Given the description of an element on the screen output the (x, y) to click on. 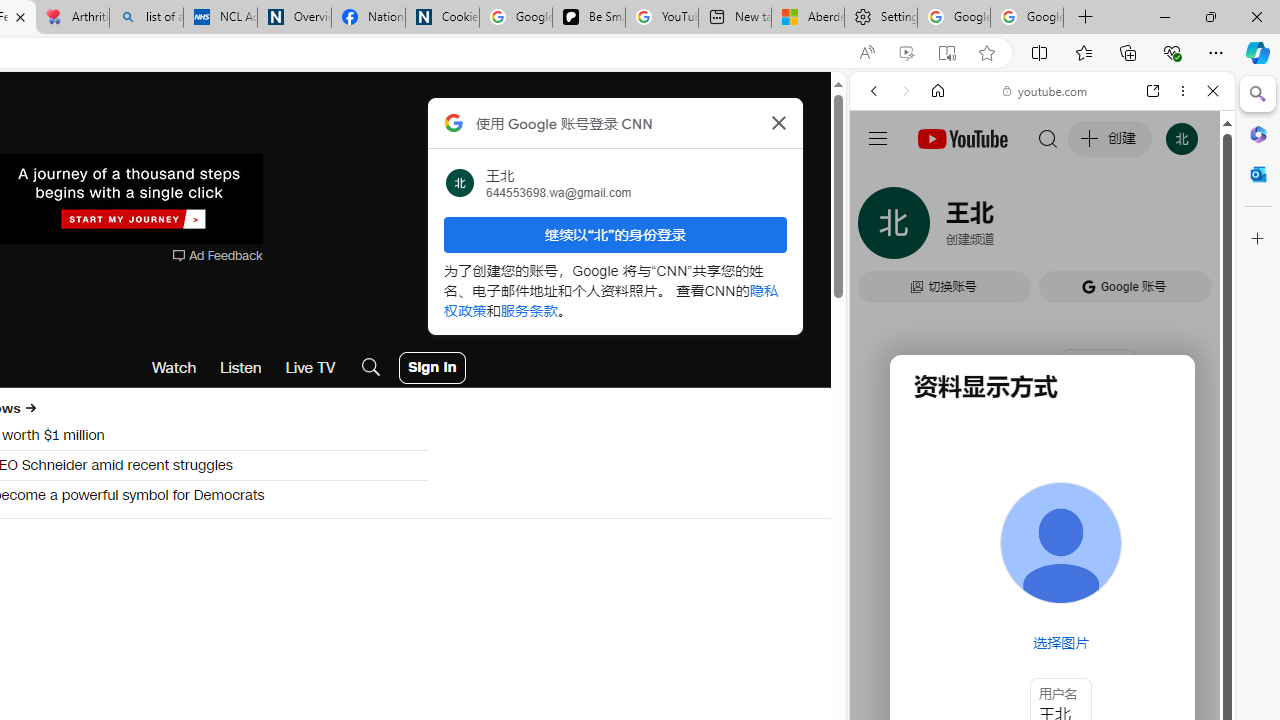
Search videos from youtube.com (1005, 657)
SEARCH TOOLS (1093, 228)
Live TV (310, 367)
Forward (906, 91)
Enhance video (906, 53)
Show More Music (1164, 546)
Class: right-arrow (30, 408)
Search Filter, IMAGES (939, 228)
